Given the description of an element on the screen output the (x, y) to click on. 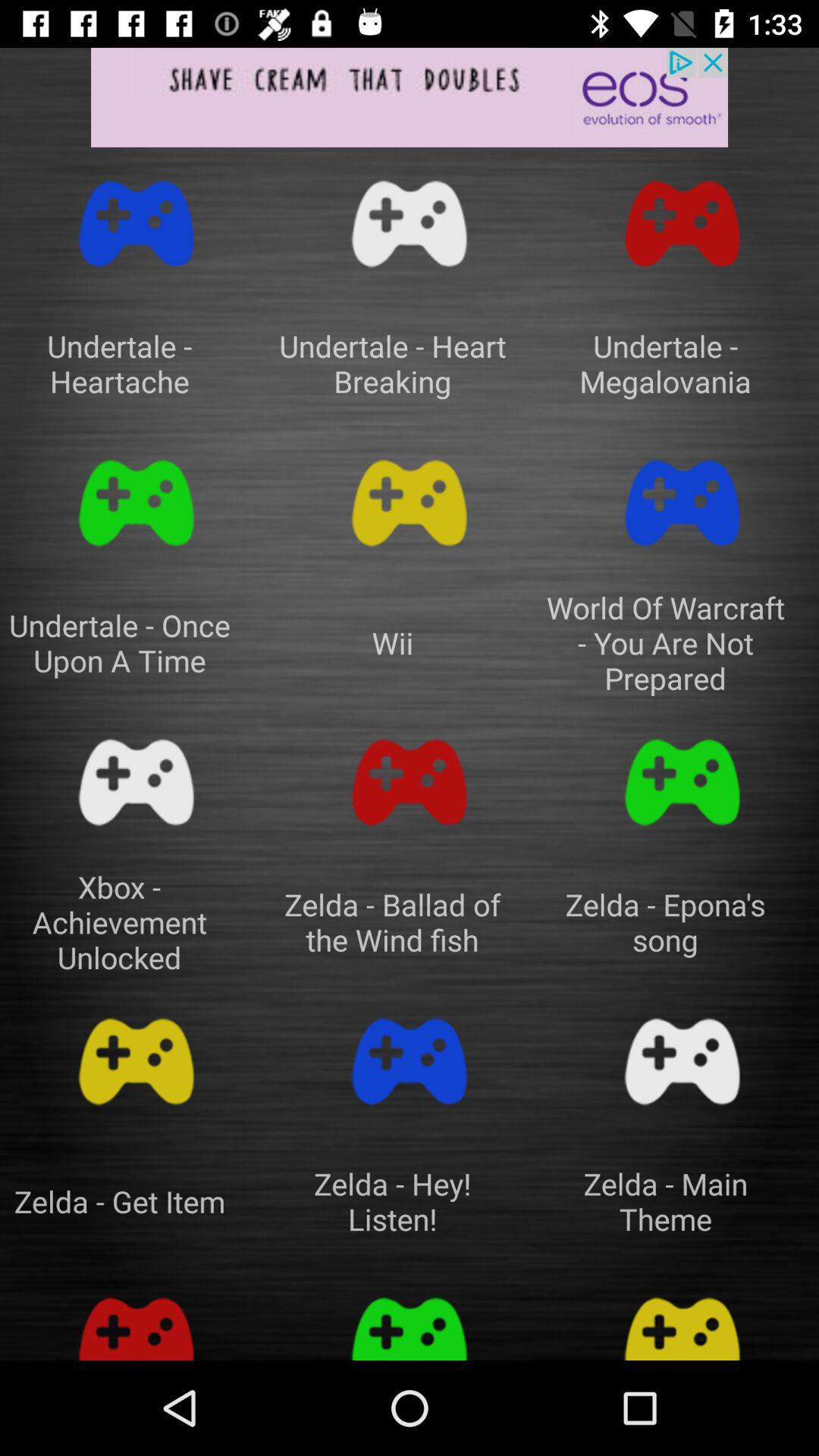
open theme (409, 1320)
